Given the description of an element on the screen output the (x, y) to click on. 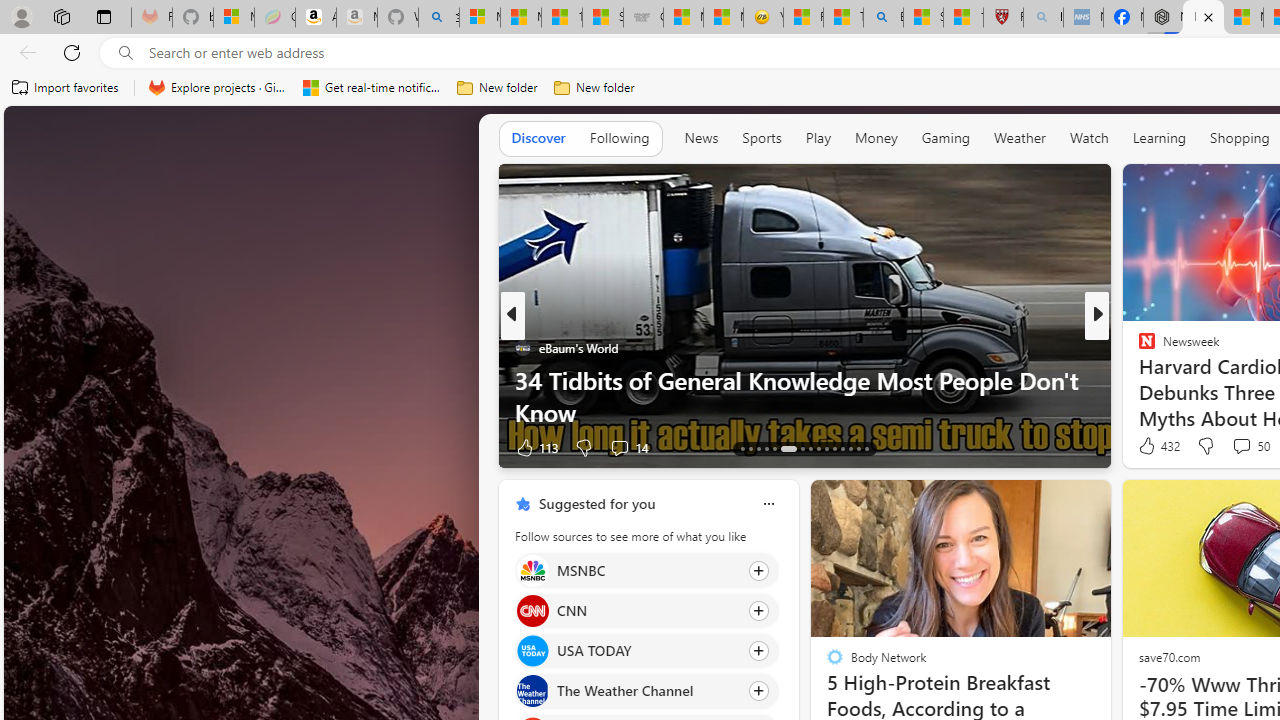
View comments 7 Comment (1234, 447)
View comments 29 Comment (1244, 447)
Moneywise (1138, 347)
Combat Siege (643, 17)
Million Dollar Sense (1138, 380)
432 Like (1157, 446)
AutomationID: tab-75 (825, 448)
68 Like (1149, 447)
eBaum's World (522, 347)
View comments 1 Comment (1229, 447)
